Given the description of an element on the screen output the (x, y) to click on. 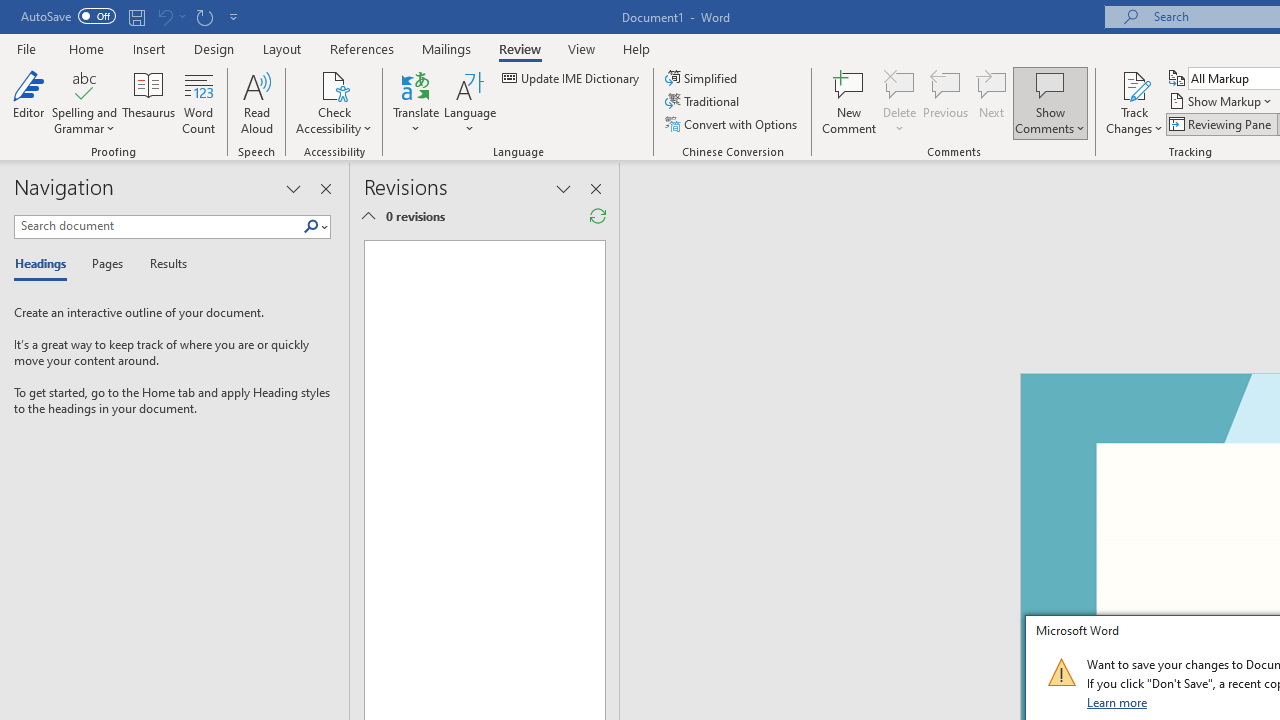
Check Accessibility (334, 102)
Spelling and Grammar (84, 84)
New Comment (849, 102)
Language (470, 102)
Track Changes (1134, 84)
Previous (946, 102)
Traditional (703, 101)
Learn more (1118, 702)
Can't Undo (170, 15)
Simplified (702, 78)
Check Accessibility (334, 84)
